Given the description of an element on the screen output the (x, y) to click on. 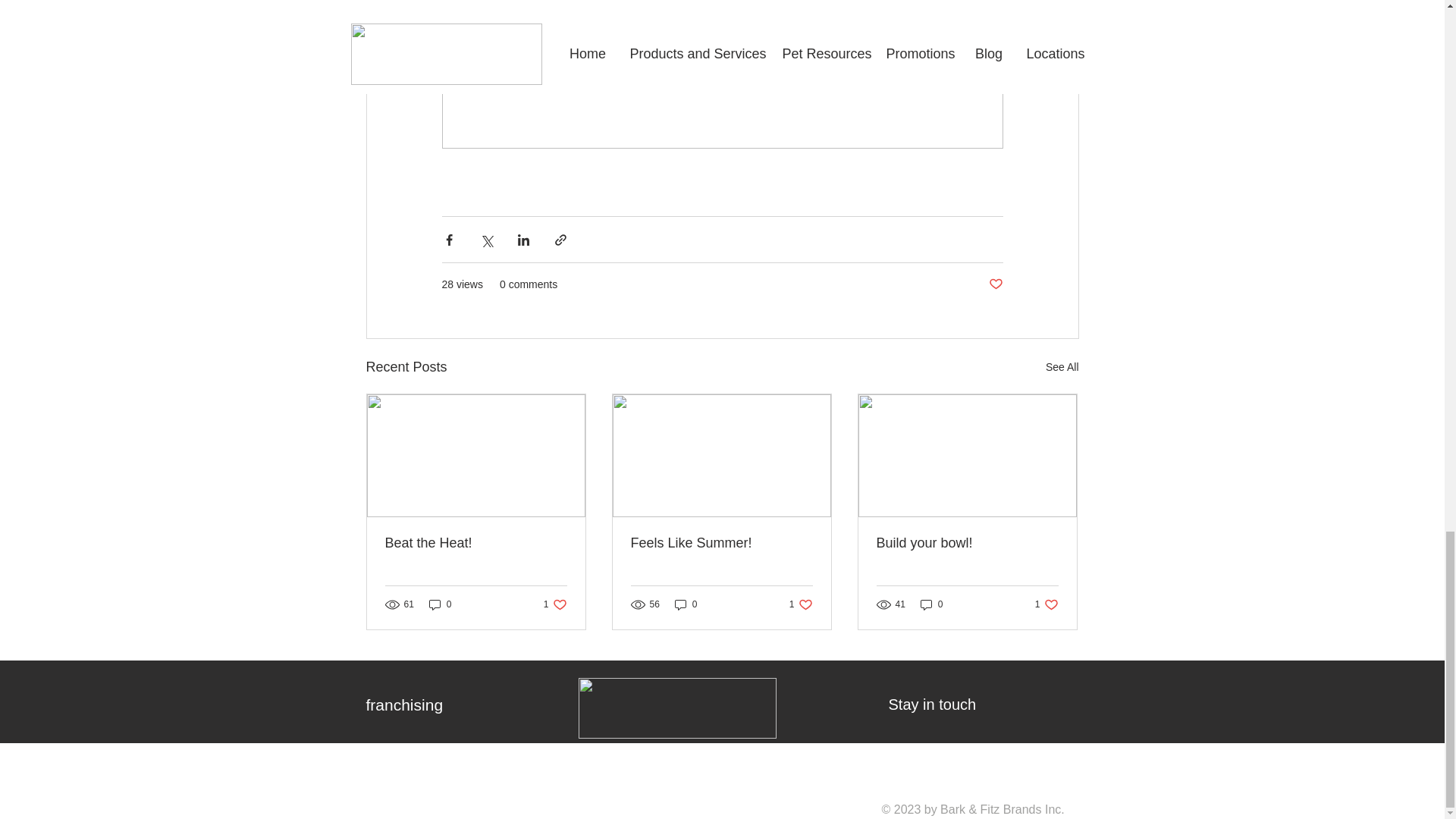
Post not marked as liked (995, 284)
